Given the description of an element on the screen output the (x, y) to click on. 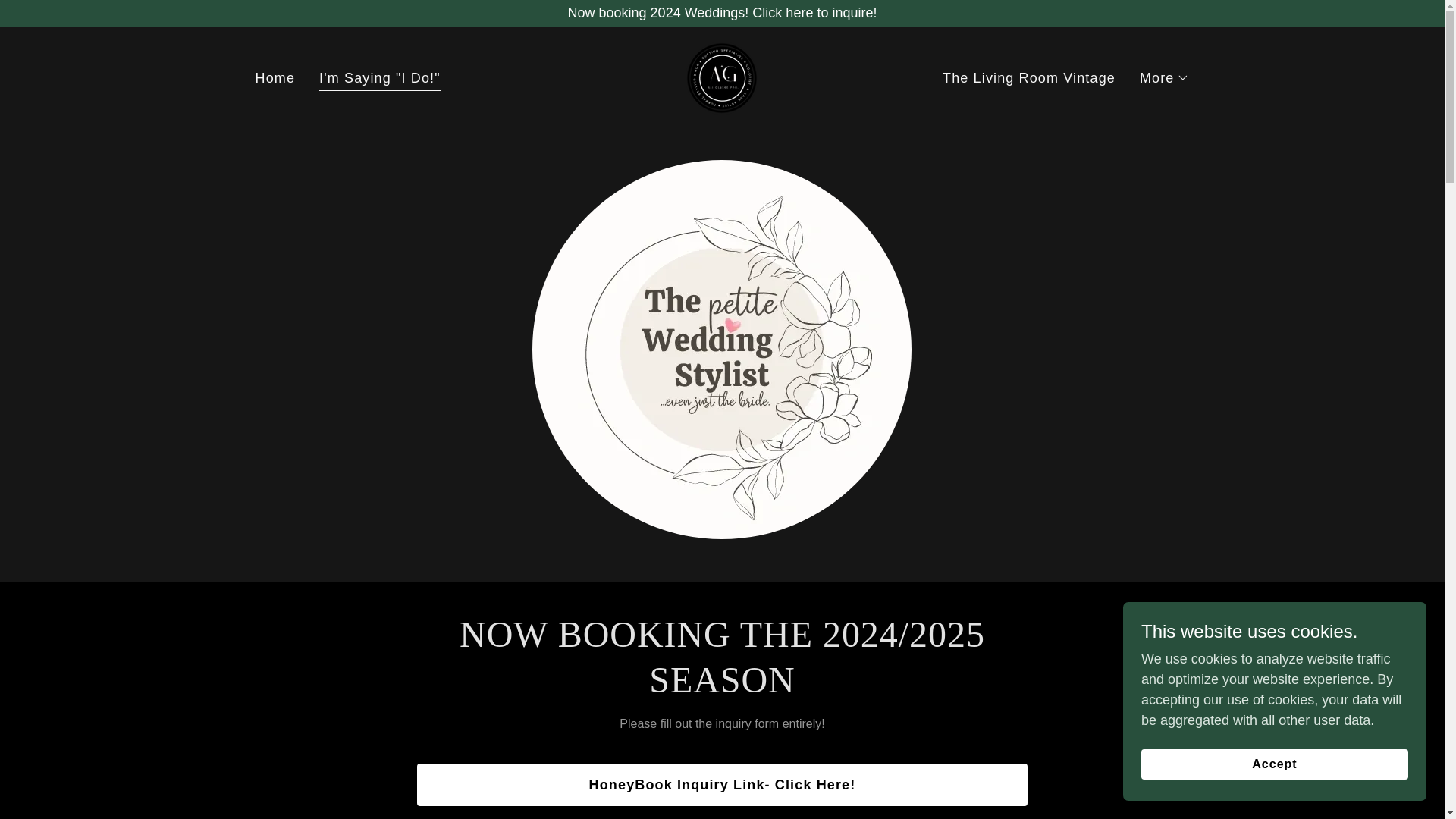
Ali Glaske Pro. (721, 77)
Home (274, 77)
More (1164, 77)
I'm Saying "I Do!" (379, 79)
The Living Room Vintage (1028, 77)
